Given the description of an element on the screen output the (x, y) to click on. 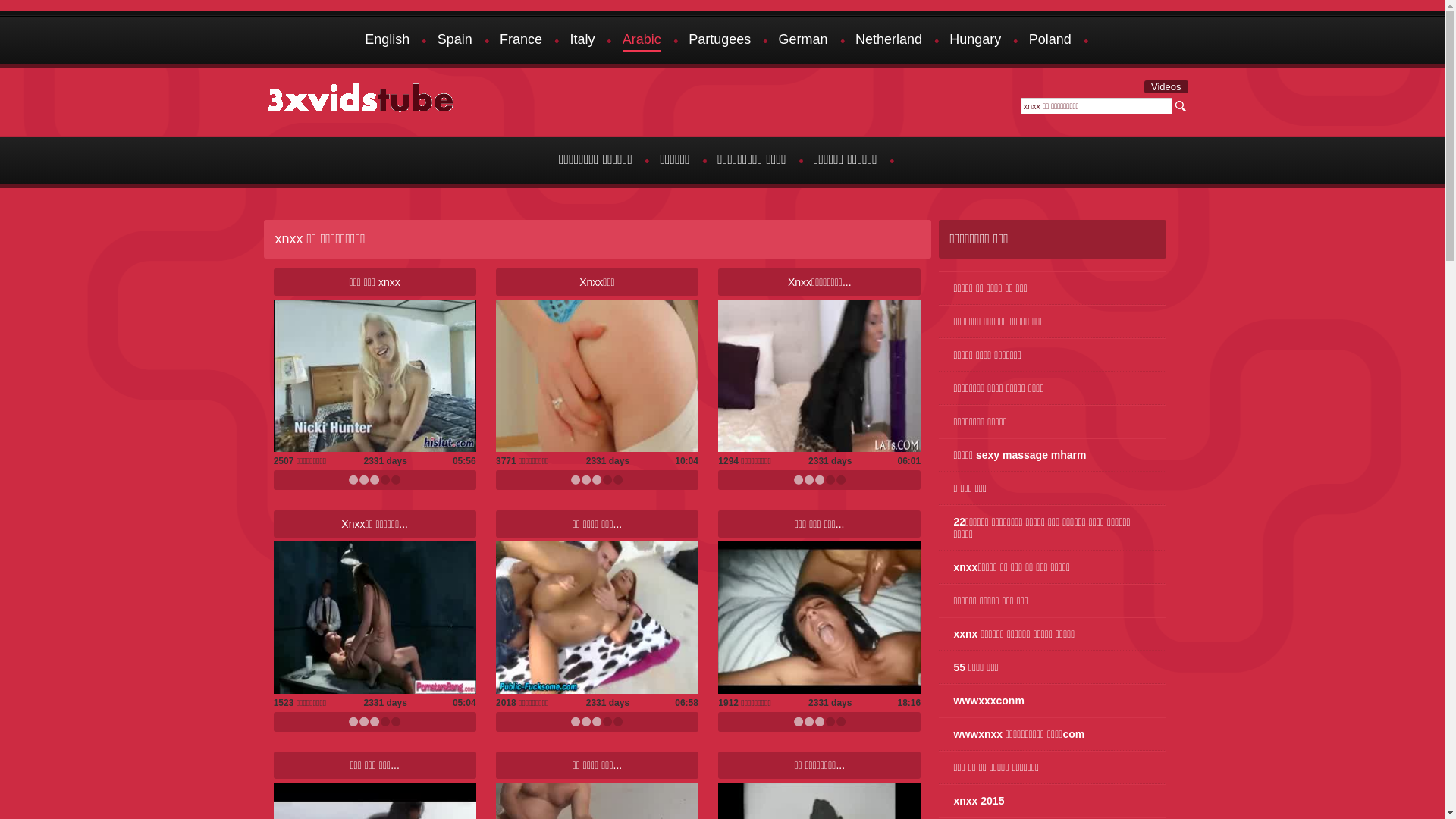
wwwxxxconm Element type: text (1052, 700)
xnxx 2015 Element type: text (1052, 800)
Partugees Element type: text (719, 40)
English Element type: text (386, 40)
Hungary Element type: text (975, 40)
Italy Element type: text (581, 40)
Videos Element type: text (1166, 86)
France Element type: text (520, 40)
Spain Element type: text (454, 40)
Poland Element type: text (1050, 40)
Arabic Element type: text (641, 40)
Netherland Element type: text (888, 40)
German Element type: text (803, 40)
